Given the description of an element on the screen output the (x, y) to click on. 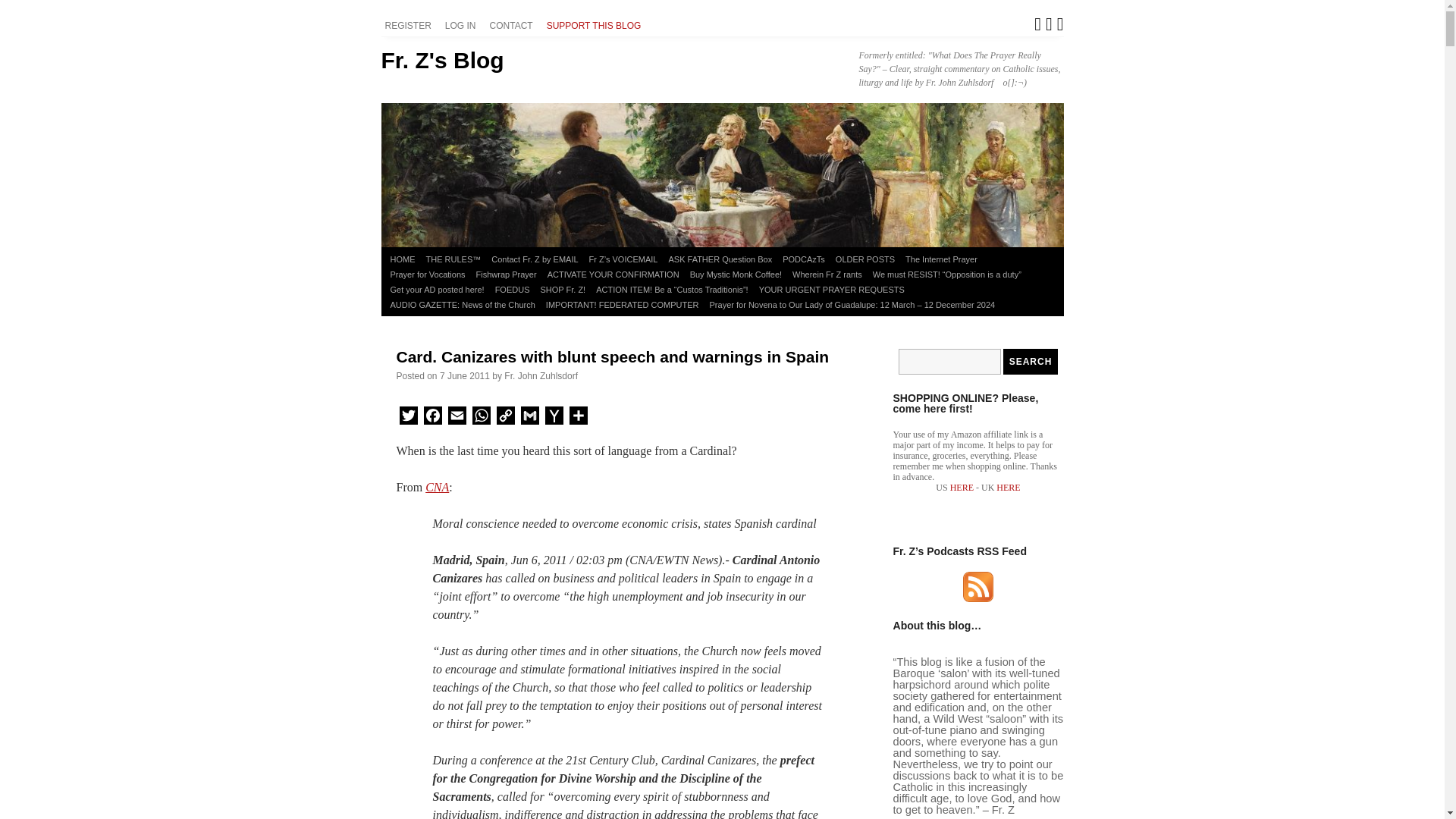
Search (1030, 361)
12:04 AM (464, 376)
HOME (402, 258)
WhatsApp (480, 417)
LOG IN (462, 25)
Fishwrap Prayer (505, 273)
Buy Mystic Monk Coffee! (735, 273)
Facebook (432, 417)
AUDIO GAZETTE: News of the Church (462, 304)
Twitter (408, 417)
REGISTER (410, 25)
PODCAzTs (803, 258)
OLDER POSTS (864, 258)
ACTIVATE YOUR CONFIRMATION (612, 273)
Copy Link (504, 417)
